Given the description of an element on the screen output the (x, y) to click on. 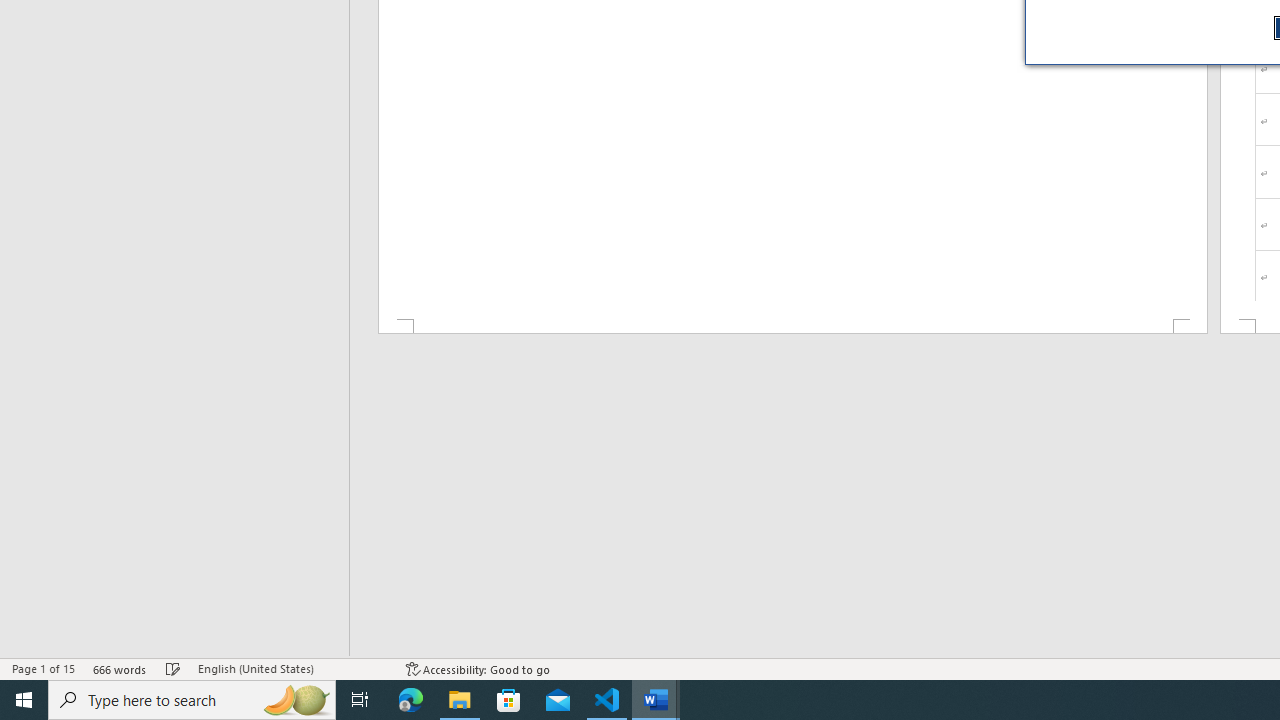
Microsoft Edge (411, 699)
Task View (359, 699)
Accessibility Checker Accessibility: Good to go (478, 668)
Footer -Section 1- (792, 326)
Type here to search (191, 699)
Word - 2 running windows (656, 699)
Search highlights icon opens search home window (295, 699)
Start (24, 699)
Spelling and Grammar Check Checking (173, 668)
Microsoft Store (509, 699)
File Explorer - 1 running window (460, 699)
Visual Studio Code - 1 running window (607, 699)
Word Count 666 words (119, 668)
